Given the description of an element on the screen output the (x, y) to click on. 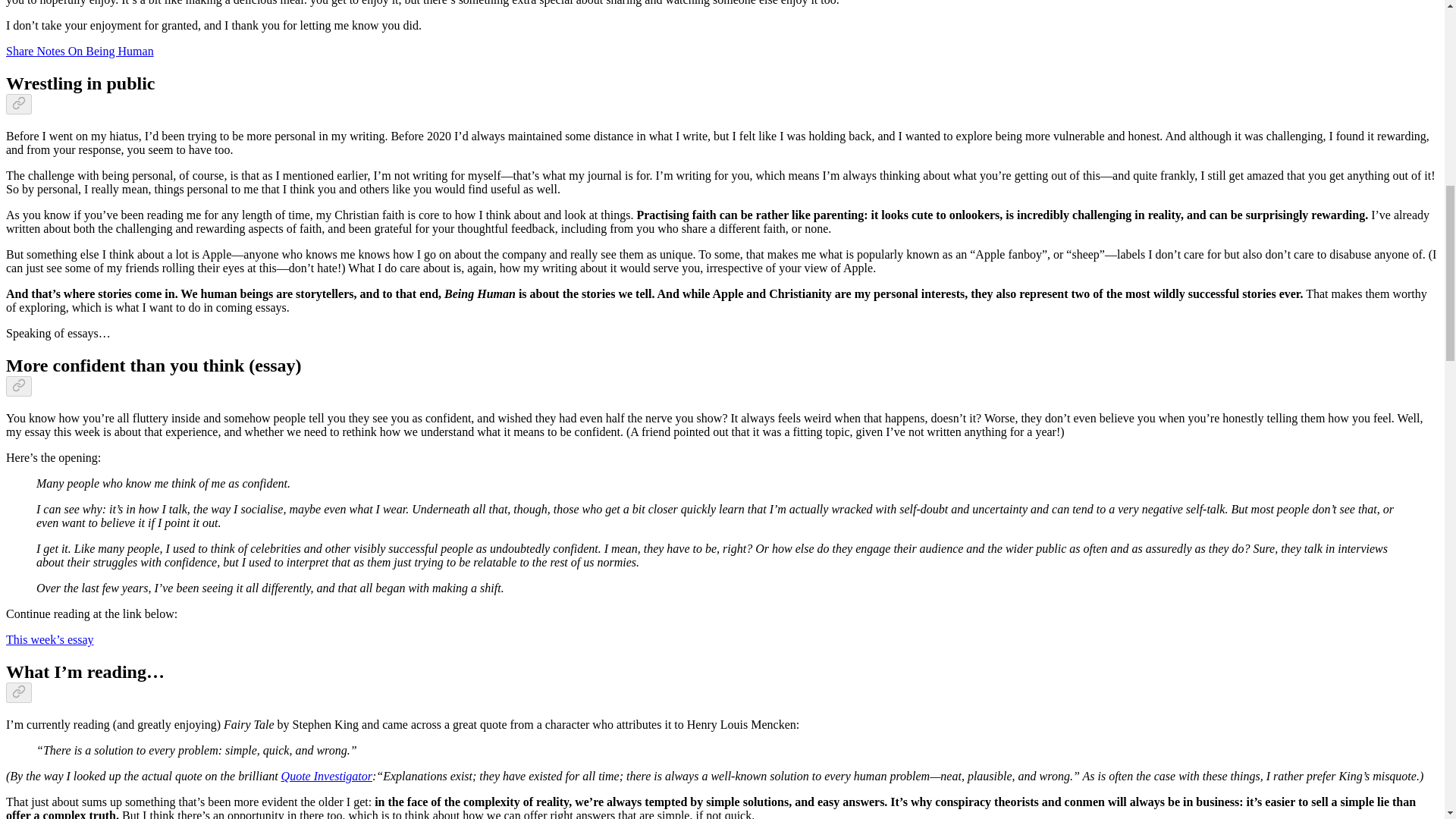
Share Notes On Being Human (79, 51)
Quote Investigator (326, 775)
